Given the description of an element on the screen output the (x, y) to click on. 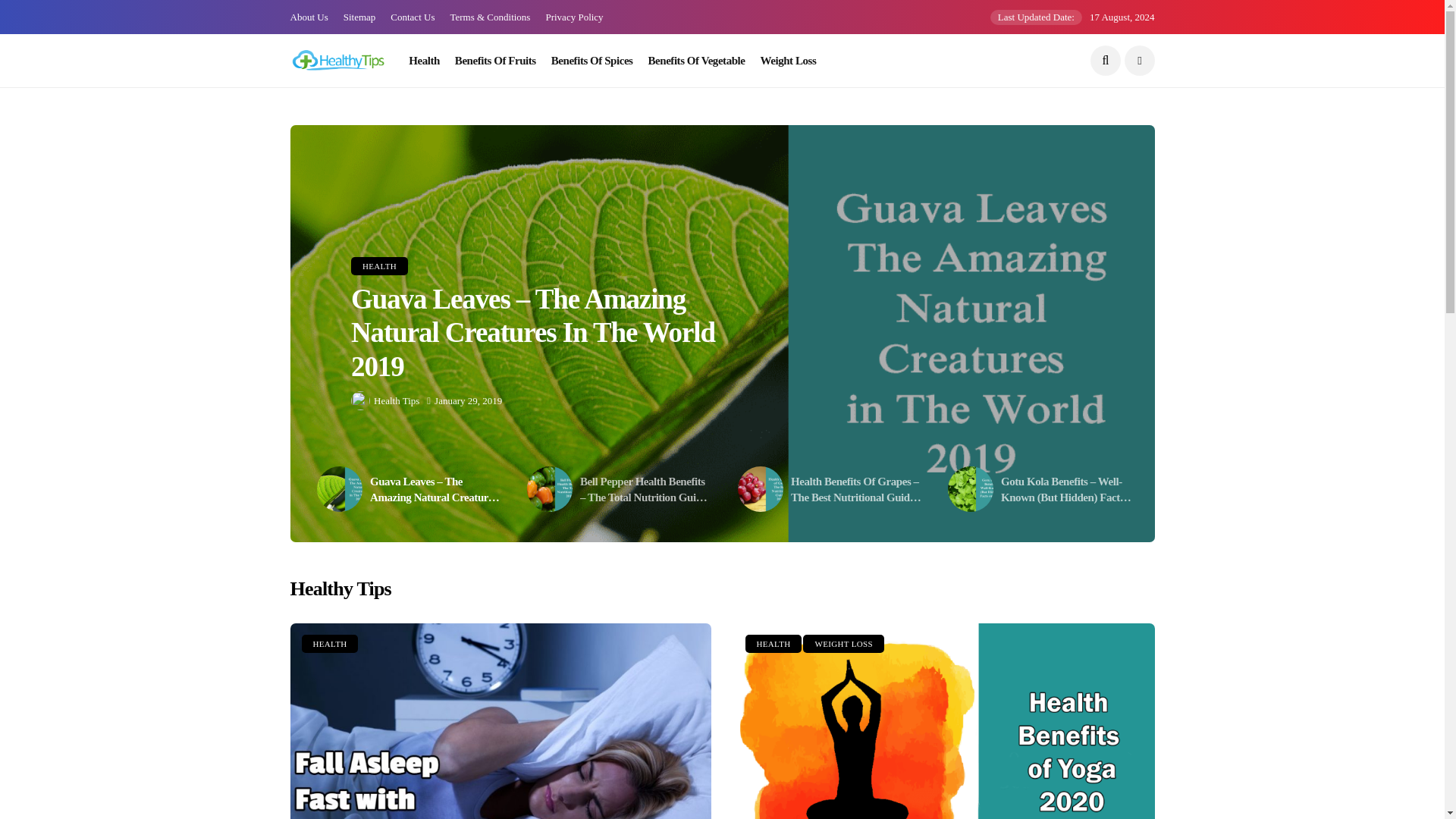
Sitemap (359, 17)
Health Benefits of Yoga (943, 721)
Privacy Policy (573, 17)
Benefits Of Vegetable (695, 60)
Posts by Health Tips (395, 400)
HEALTH (329, 643)
Weight Loss (788, 60)
About Us (308, 17)
Benefits Of Fruits (494, 60)
Benefits Of Spices (592, 60)
